Given the description of an element on the screen output the (x, y) to click on. 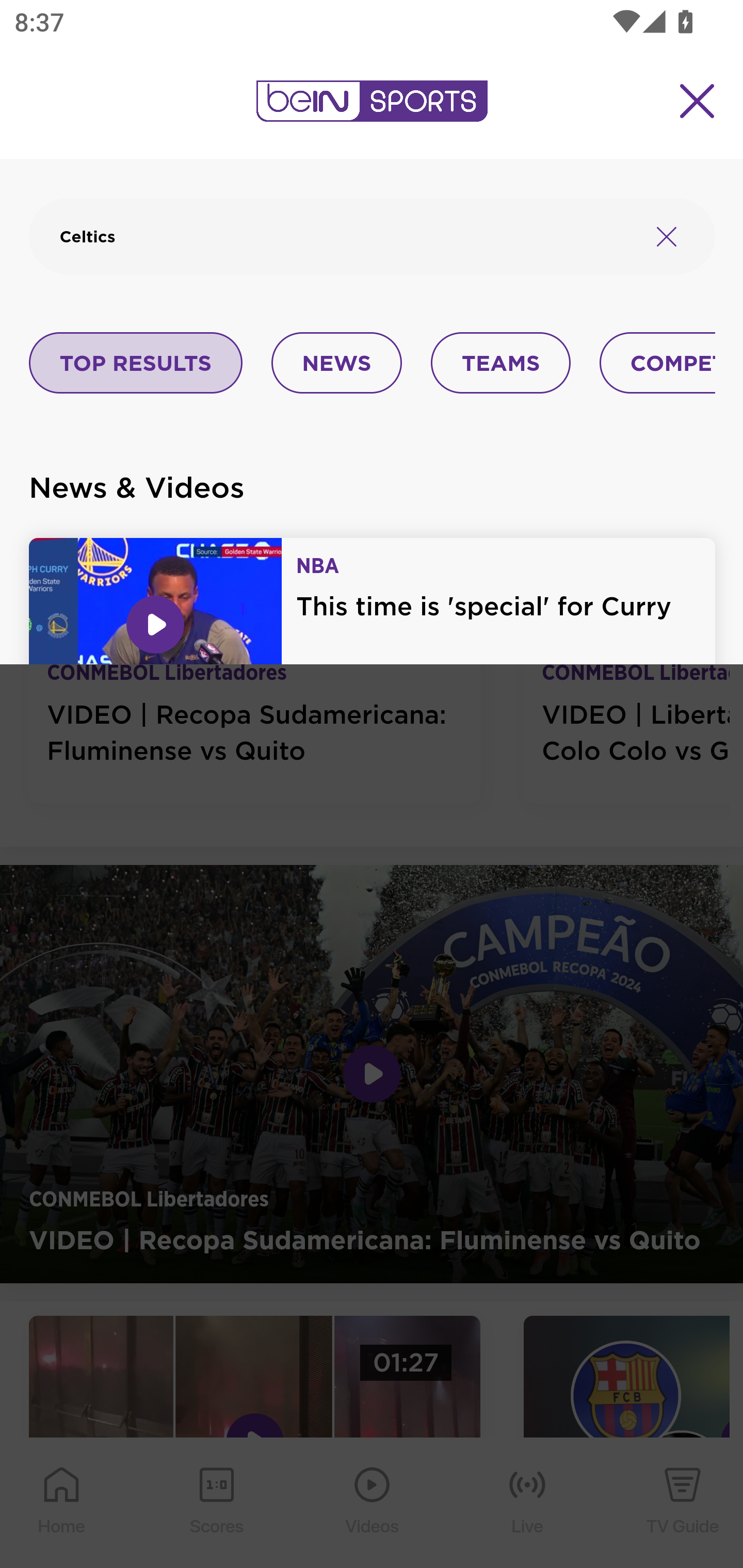
en-us?platform=mobile_android bein logo (371, 101)
Close Menu Icon (697, 101)
TOP RESULTS (135, 363)
NEWS (336, 363)
TEAMS (500, 363)
COMPETITIONS (657, 363)
